Given the description of an element on the screen output the (x, y) to click on. 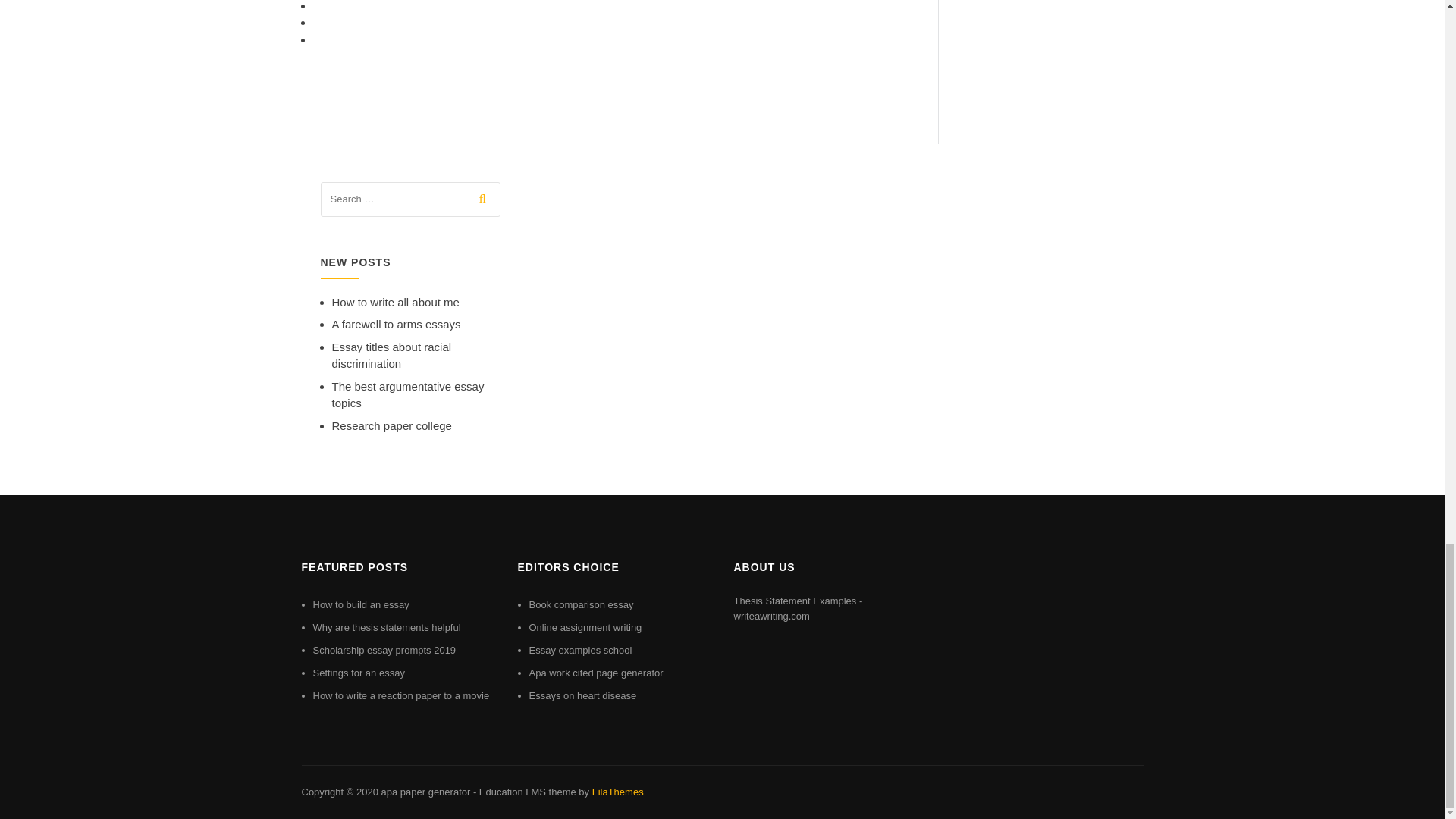
Essays on heart disease (583, 695)
Settings for an essay (358, 672)
Why are thesis statements helpful (386, 627)
apa paper generator (425, 791)
How to build an essay (361, 604)
Book comparison essay (581, 604)
The best argumentative essay topics (407, 395)
Essay examples school (580, 650)
A farewell to arms essays (396, 323)
How to write all about me (395, 301)
